Given the description of an element on the screen output the (x, y) to click on. 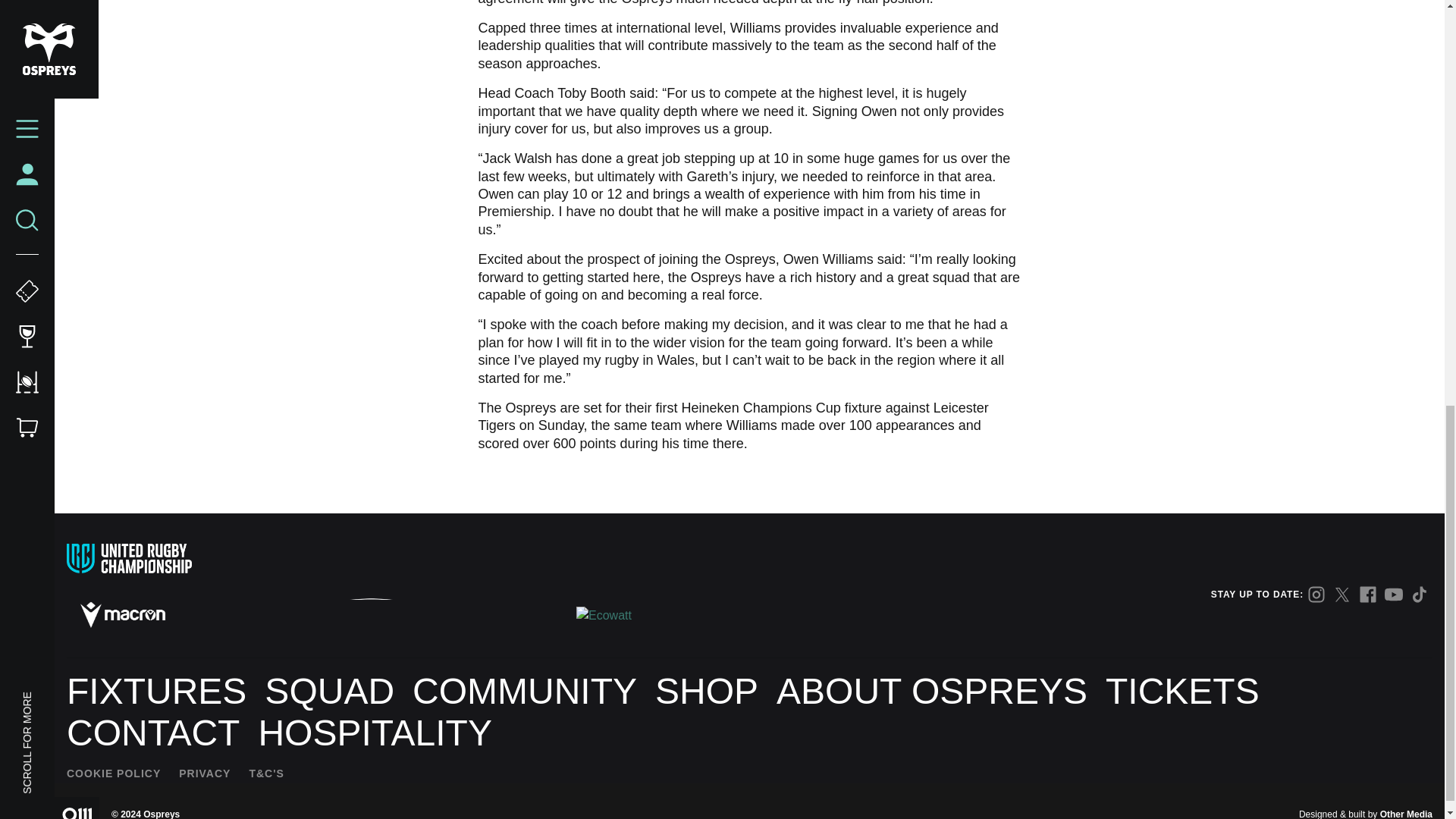
Sword (371, 614)
Facebook (1367, 594)
United Rugby Championship (129, 558)
Instagram (1315, 594)
YouTube (1393, 594)
Ecowatt (605, 615)
NPTC (495, 615)
European Challenge Cup (266, 558)
The Consumer Helpline (246, 614)
TikTok (1419, 594)
Macron (122, 614)
